Given the description of an element on the screen output the (x, y) to click on. 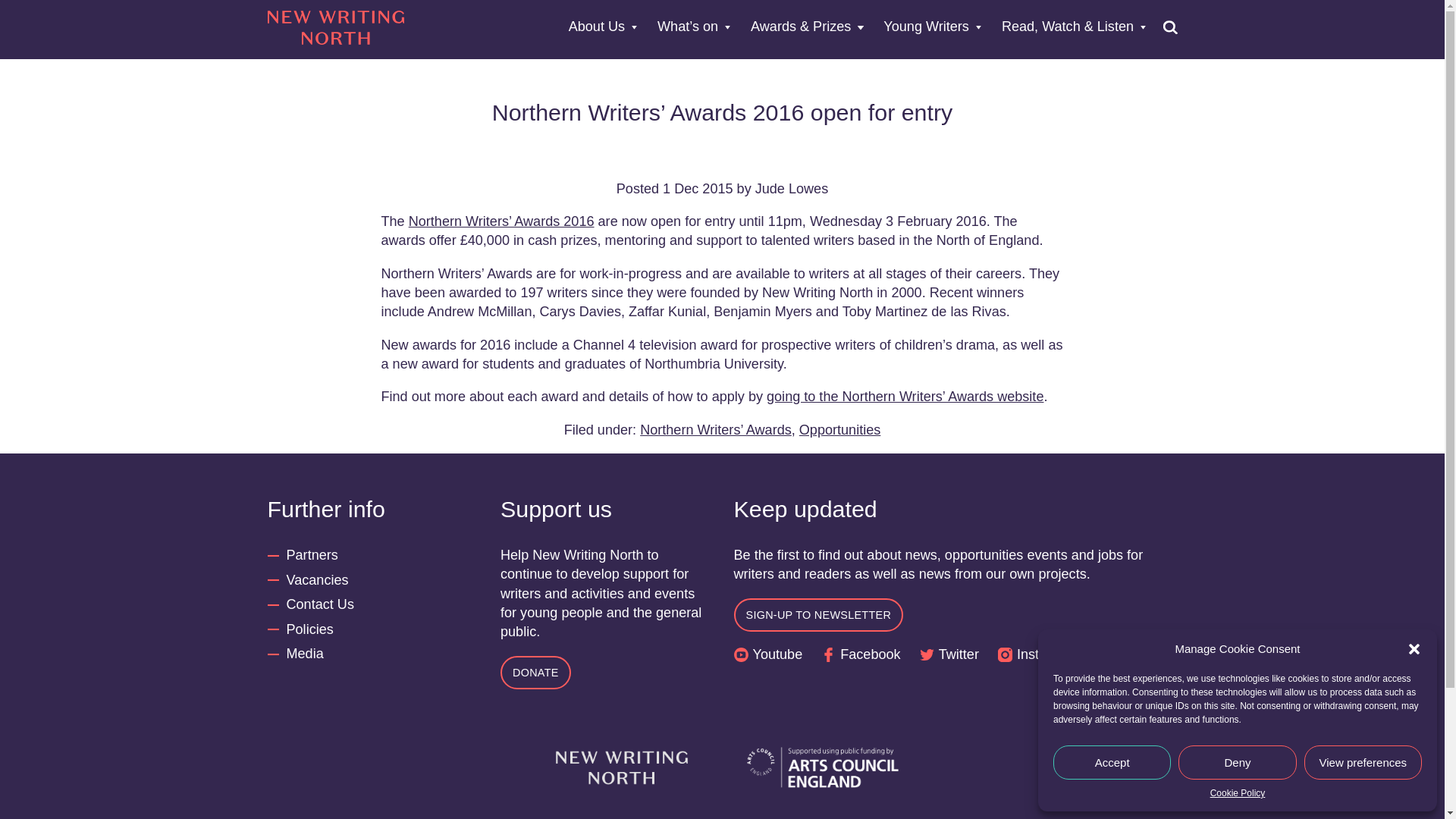
Young Writers (932, 27)
About Us (603, 27)
Deny (1236, 762)
View preferences (1363, 762)
Cookie Policy (1237, 793)
Accept (1111, 762)
